Given the description of an element on the screen output the (x, y) to click on. 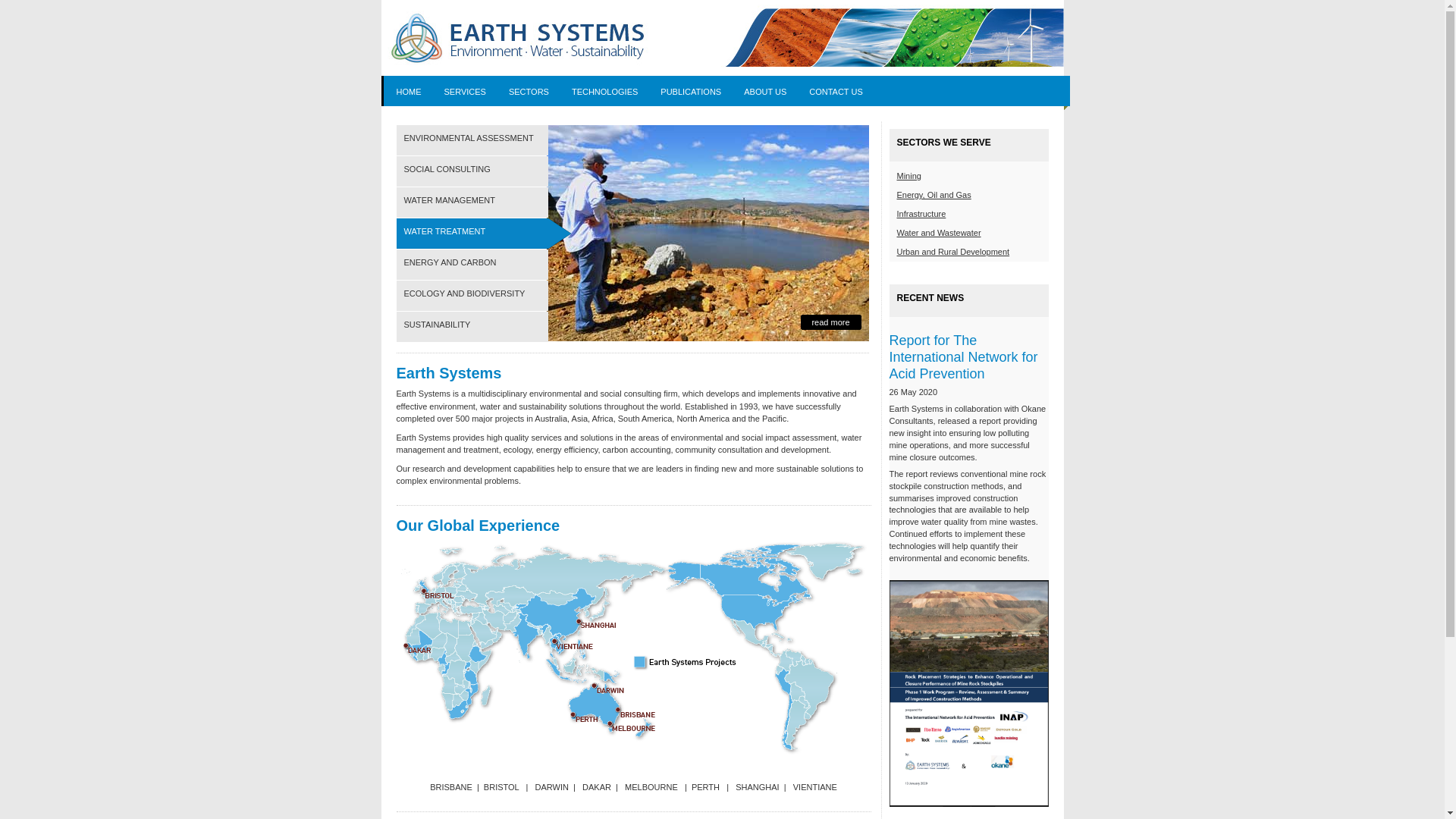
WATER TREATMENT Element type: text (482, 233)
Infrastructure Element type: text (920, 213)
ENERGY AND CARBON Element type: text (482, 264)
ABOUT US Element type: text (764, 91)
SECTORS Element type: text (528, 91)
PUBLICATIONS Element type: text (690, 91)
Urban and Rural Development Element type: text (952, 251)
SOCIAL CONSULTING Element type: text (482, 171)
ENVIRONMENTAL ASSESSMENT Element type: text (482, 140)
Water and Wastewater Element type: text (938, 232)
SUSTAINABILITY Element type: text (482, 326)
SERVICES Element type: text (465, 91)
HOME Element type: text (407, 91)
CONTACT US Element type: text (835, 91)
Energy, Oil and Gas Element type: text (933, 194)
Mining Element type: text (908, 175)
WATER MANAGEMENT Element type: text (482, 202)
ECOLOGY AND BIODIVERSITY Element type: text (482, 295)
read more Element type: text (830, 321)
TECHNOLOGIES Element type: text (604, 91)
